Given the description of an element on the screen output the (x, y) to click on. 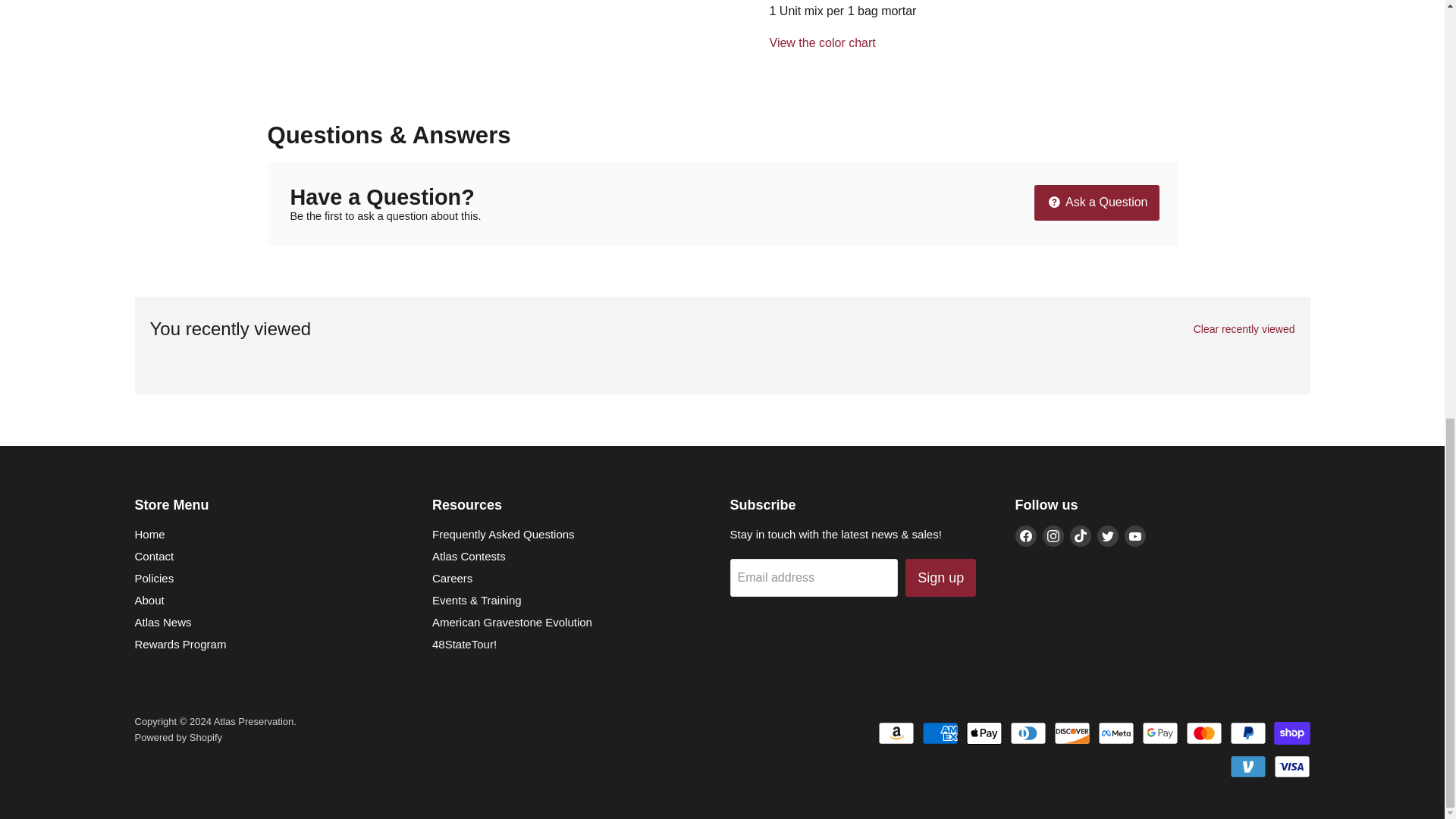
Instagram (1052, 536)
Twitter (1107, 536)
Amazon (895, 732)
Apple Pay (984, 732)
Facebook (1024, 536)
TikTok (1079, 536)
American Express (939, 732)
YouTube (1134, 536)
